Given the description of an element on the screen output the (x, y) to click on. 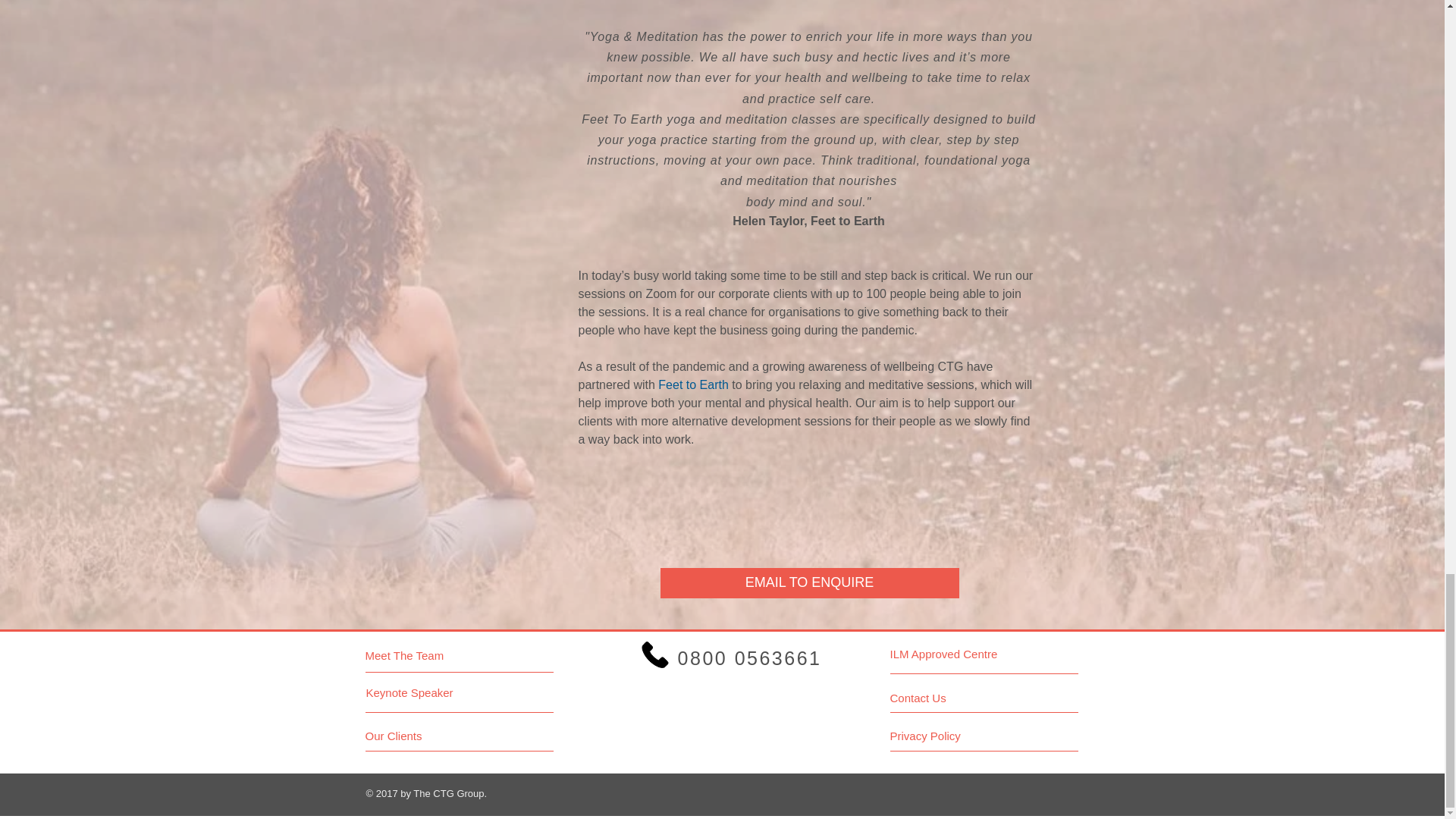
EMAIL TO ENQUIRE (808, 583)
        0800 0563661 (720, 658)
Contact Us (946, 697)
ILM Approved Centre (946, 653)
Feet to Earth (693, 384)
Our Clients (422, 735)
Meet The Team (430, 655)
Keynote Speaker (430, 692)
Privacy Policy (946, 735)
